Given the description of an element on the screen output the (x, y) to click on. 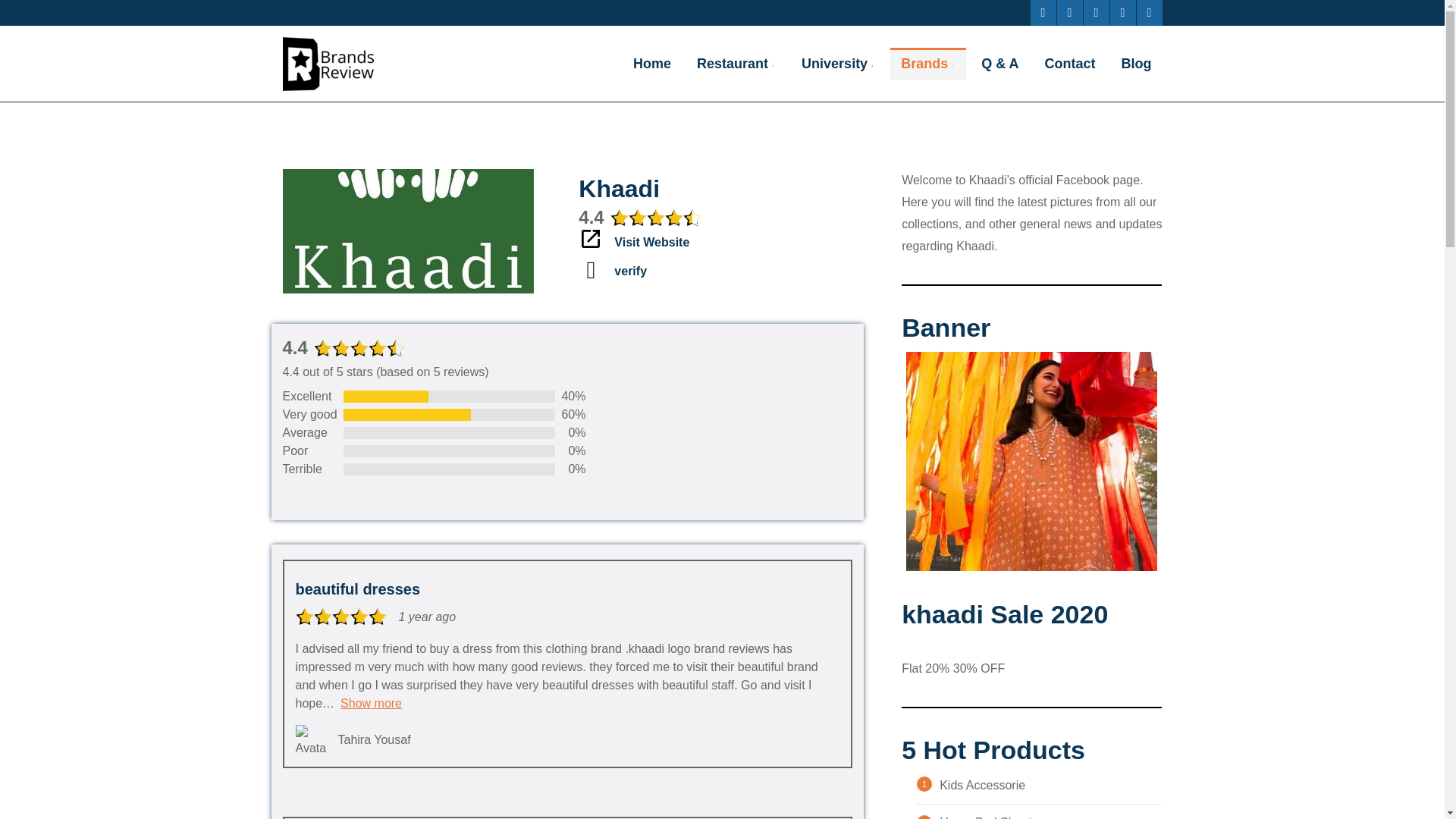
YouTube (1122, 12)
Home (652, 63)
YouTube (1122, 12)
University (837, 63)
Pinterest (1095, 12)
Twitter (1070, 12)
Restaurant (735, 63)
Instagram (1148, 12)
Pinterest (1095, 12)
Instagram (1148, 12)
